Given the description of an element on the screen output the (x, y) to click on. 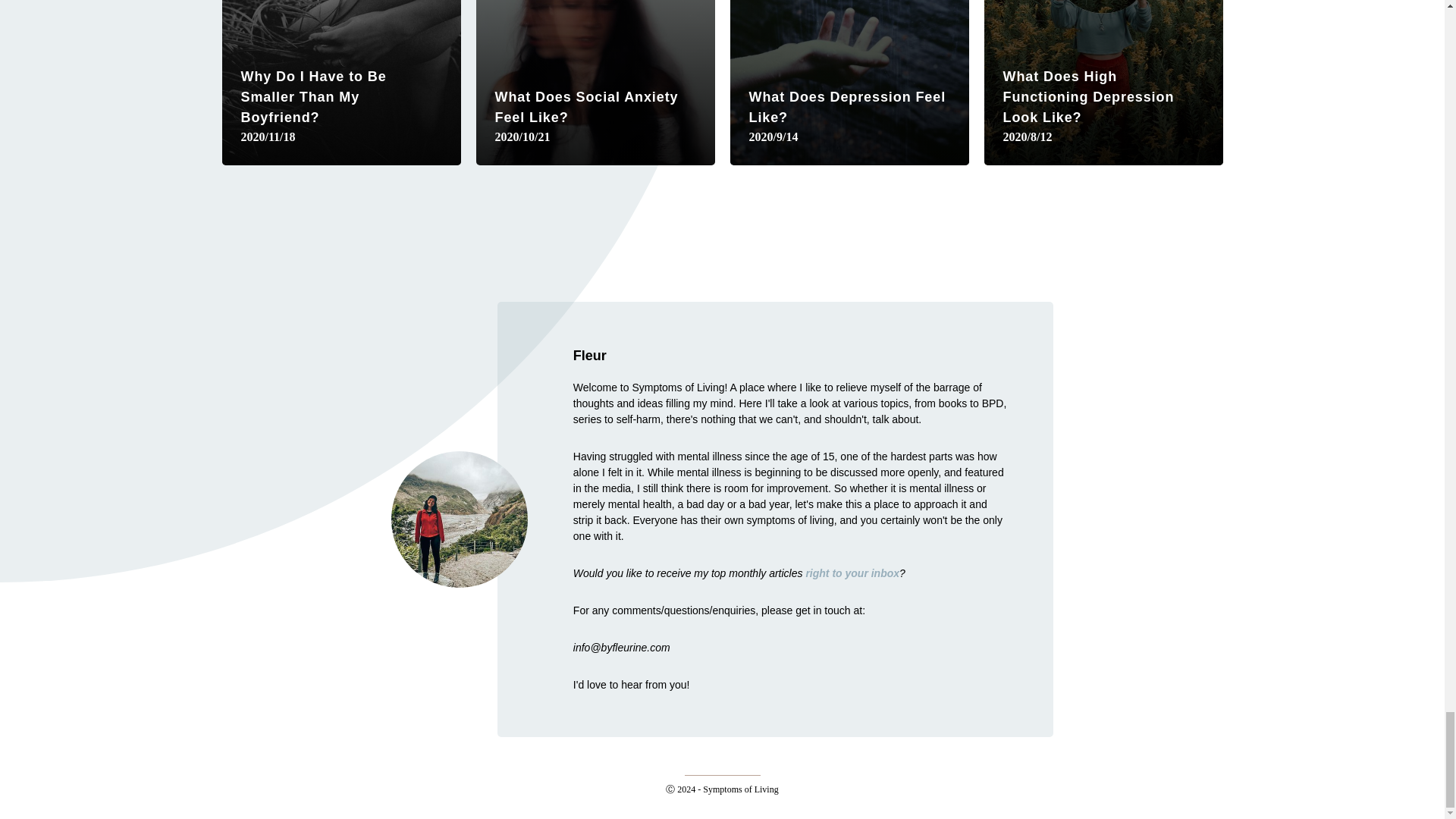
right to your inbox (852, 573)
